Given the description of an element on the screen output the (x, y) to click on. 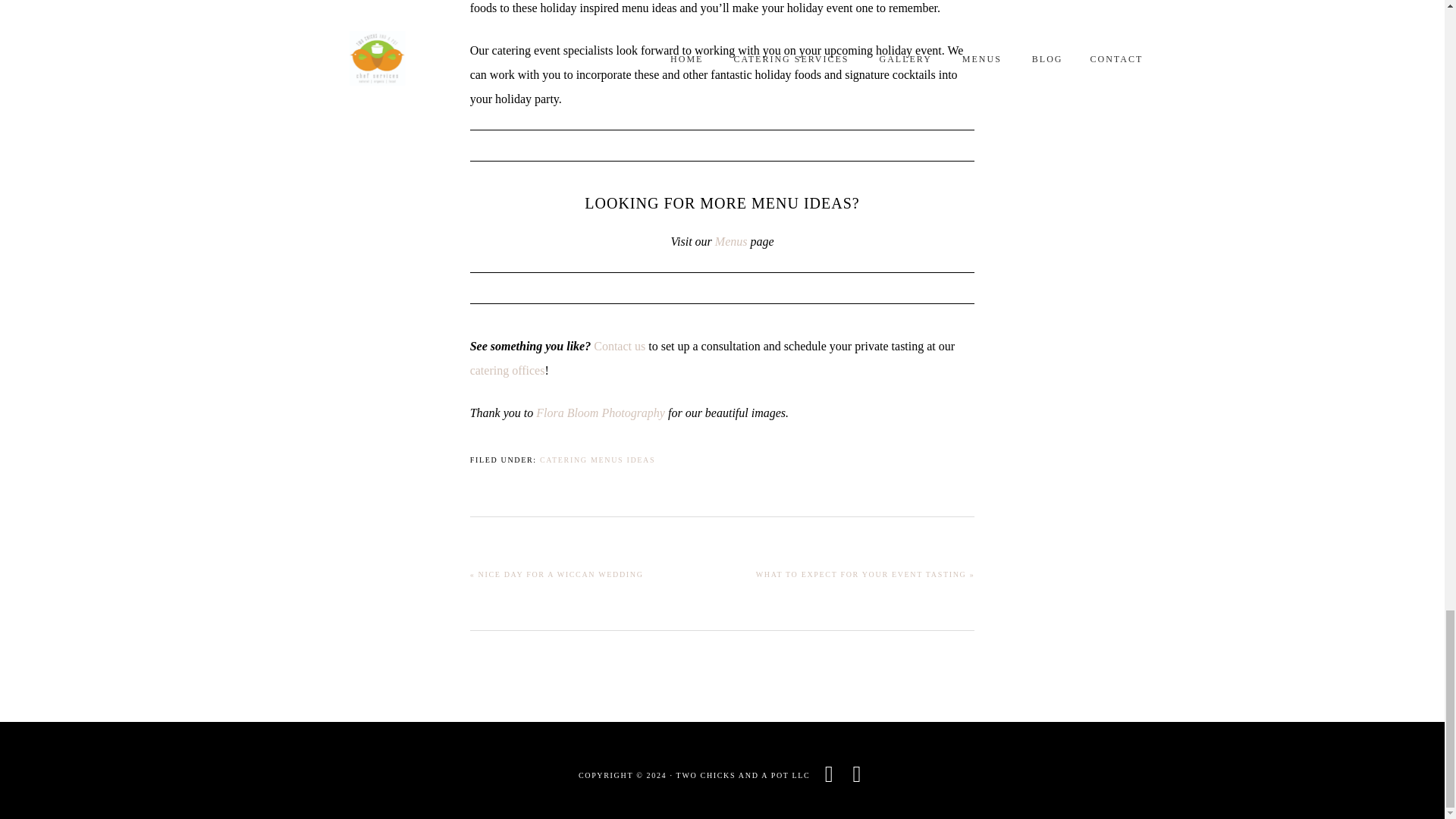
Flora Bloom Photography (600, 412)
catering offices (507, 369)
Menus (731, 241)
Contact us (619, 345)
CATERING MENUS IDEAS (597, 459)
